Given the description of an element on the screen output the (x, y) to click on. 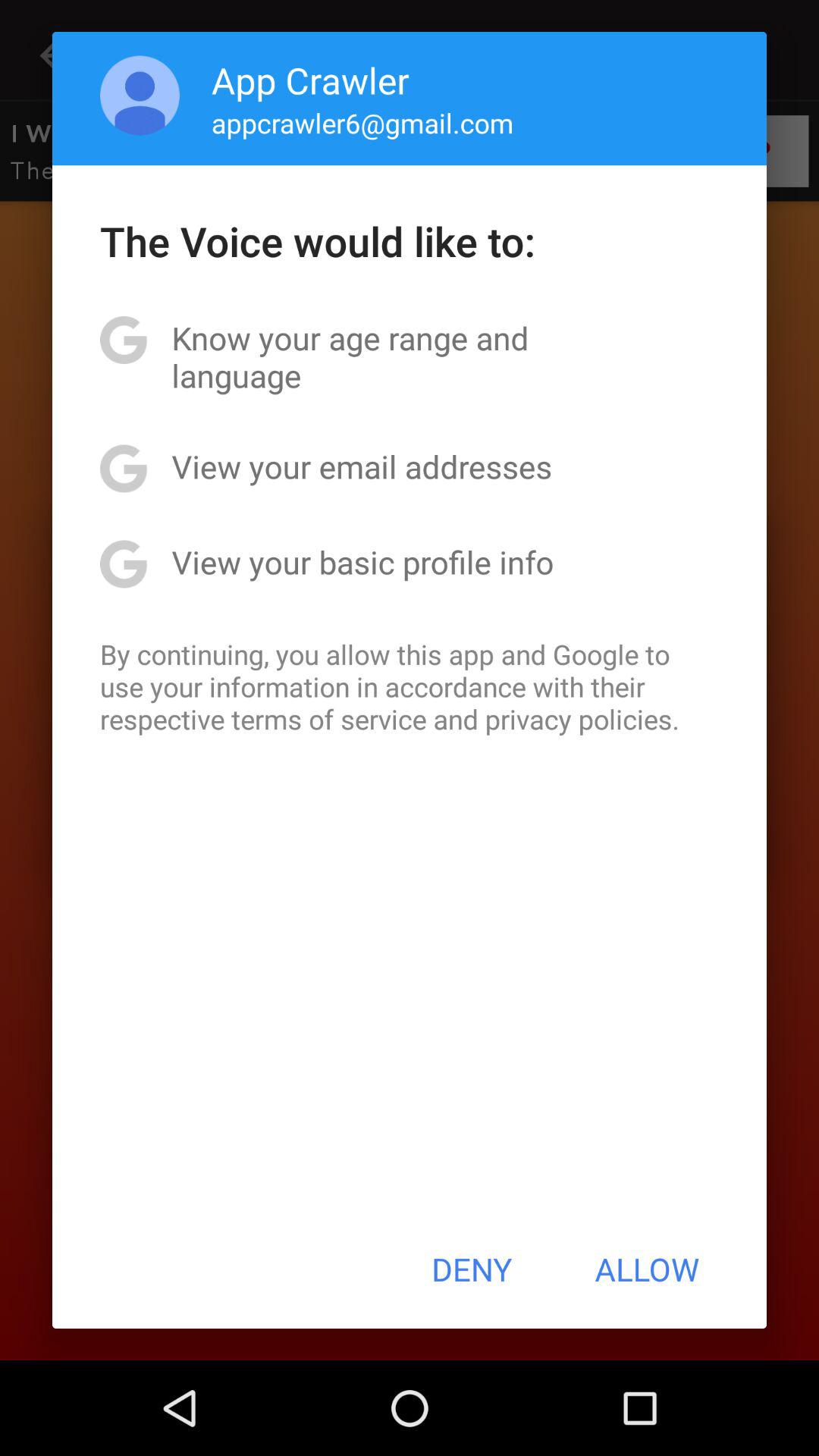
swipe to appcrawler6@gmail.com (362, 122)
